Given the description of an element on the screen output the (x, y) to click on. 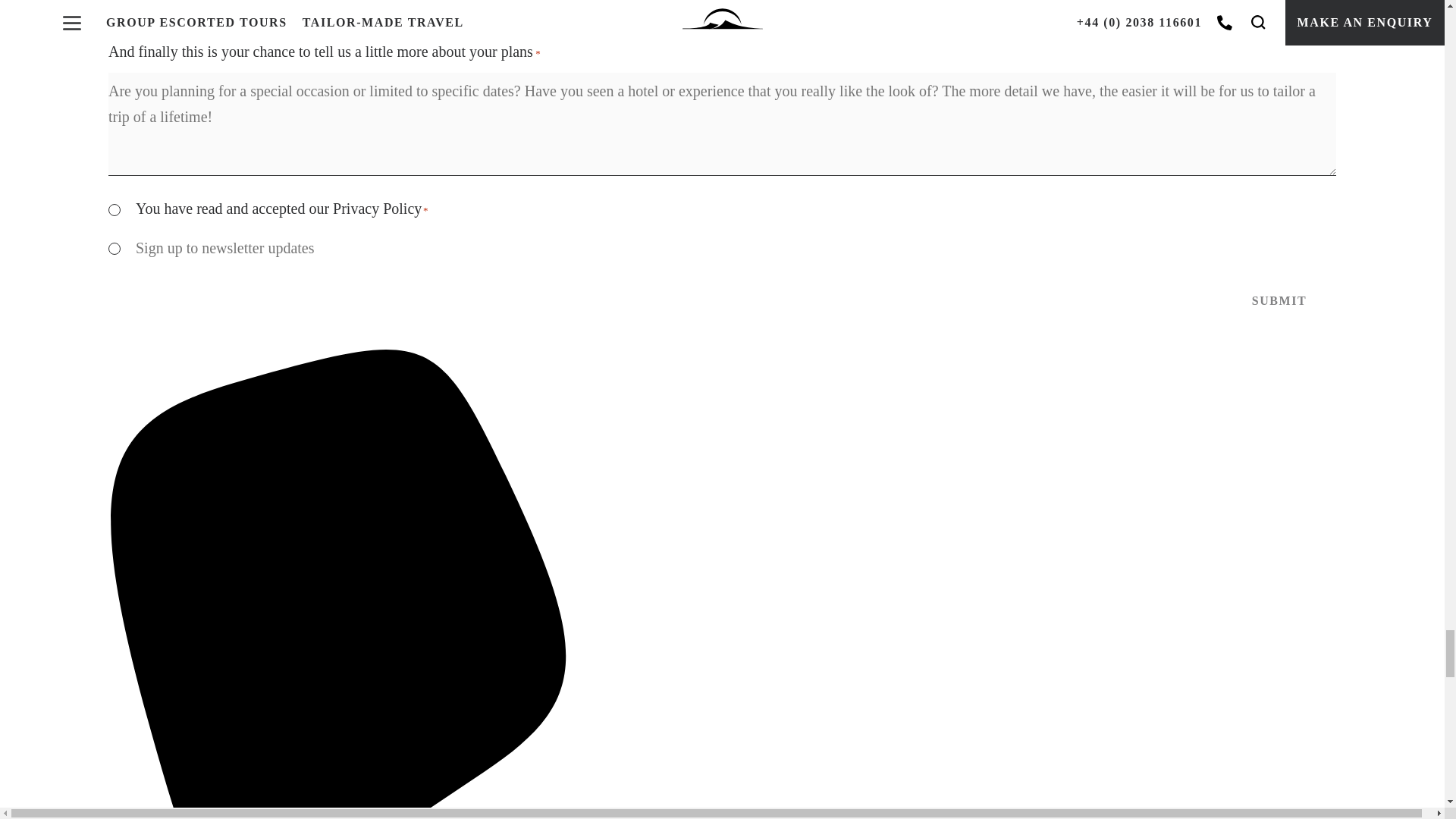
Submit (1279, 301)
Sign up to newsletter updates (113, 248)
1 (113, 209)
